Given the description of an element on the screen output the (x, y) to click on. 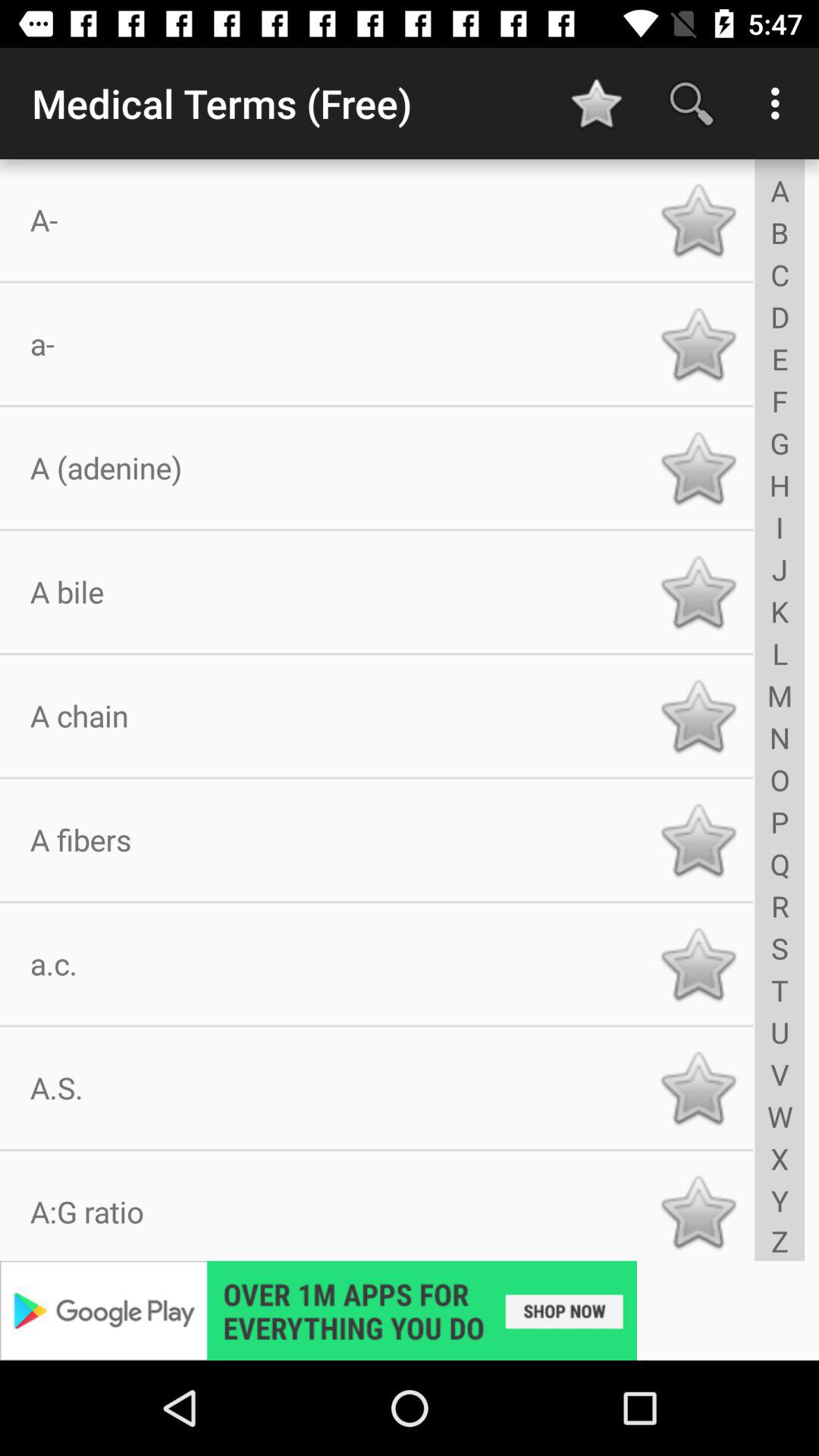
star symbol (697, 592)
